Given the description of an element on the screen output the (x, y) to click on. 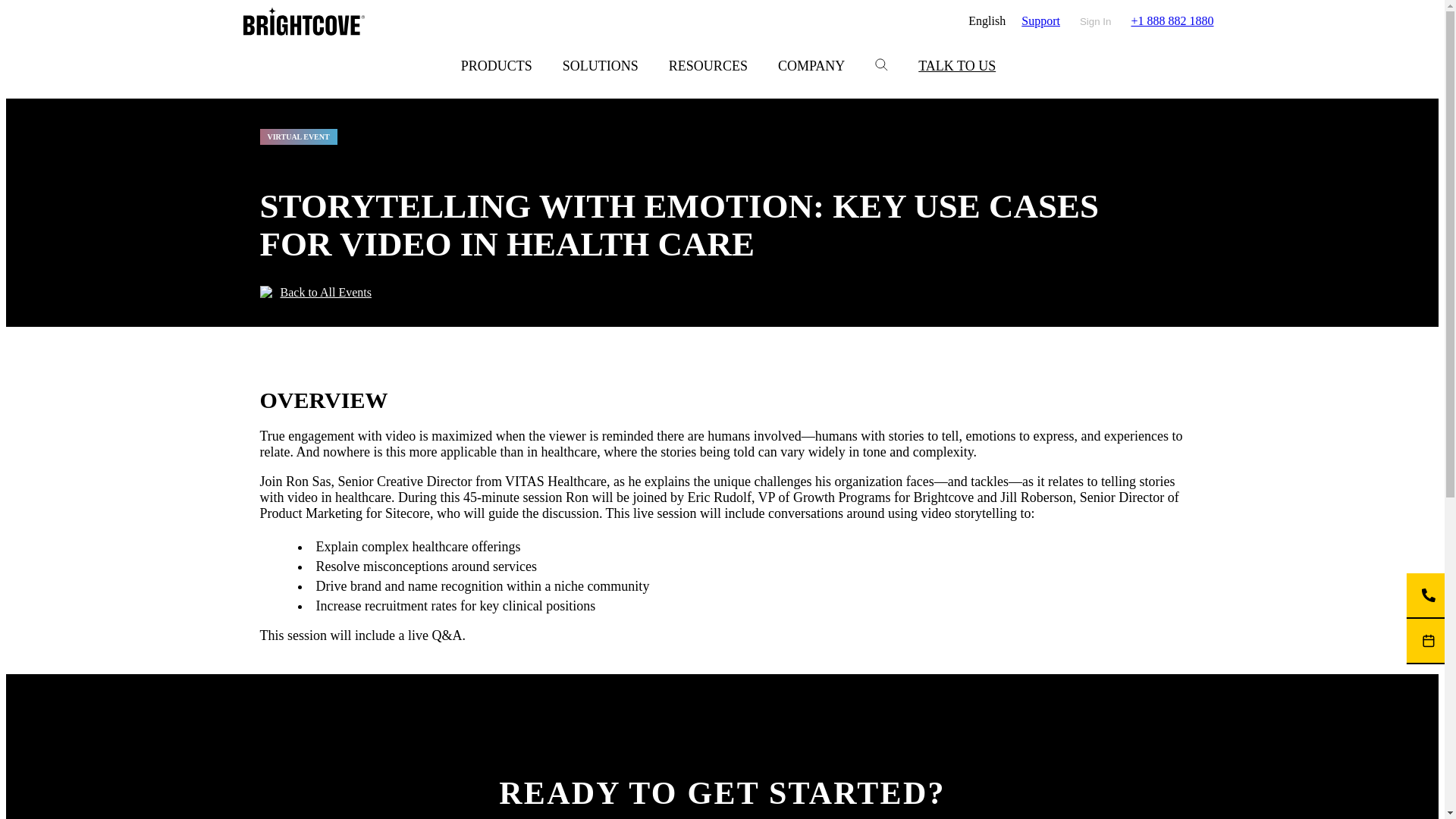
English (987, 20)
Support (1040, 20)
Back to All Events (315, 294)
Sign In (1095, 21)
SEARCH ICONA MAGNIFYING GLASS ICON. (881, 64)
TALK TO US (956, 66)
